Given the description of an element on the screen output the (x, y) to click on. 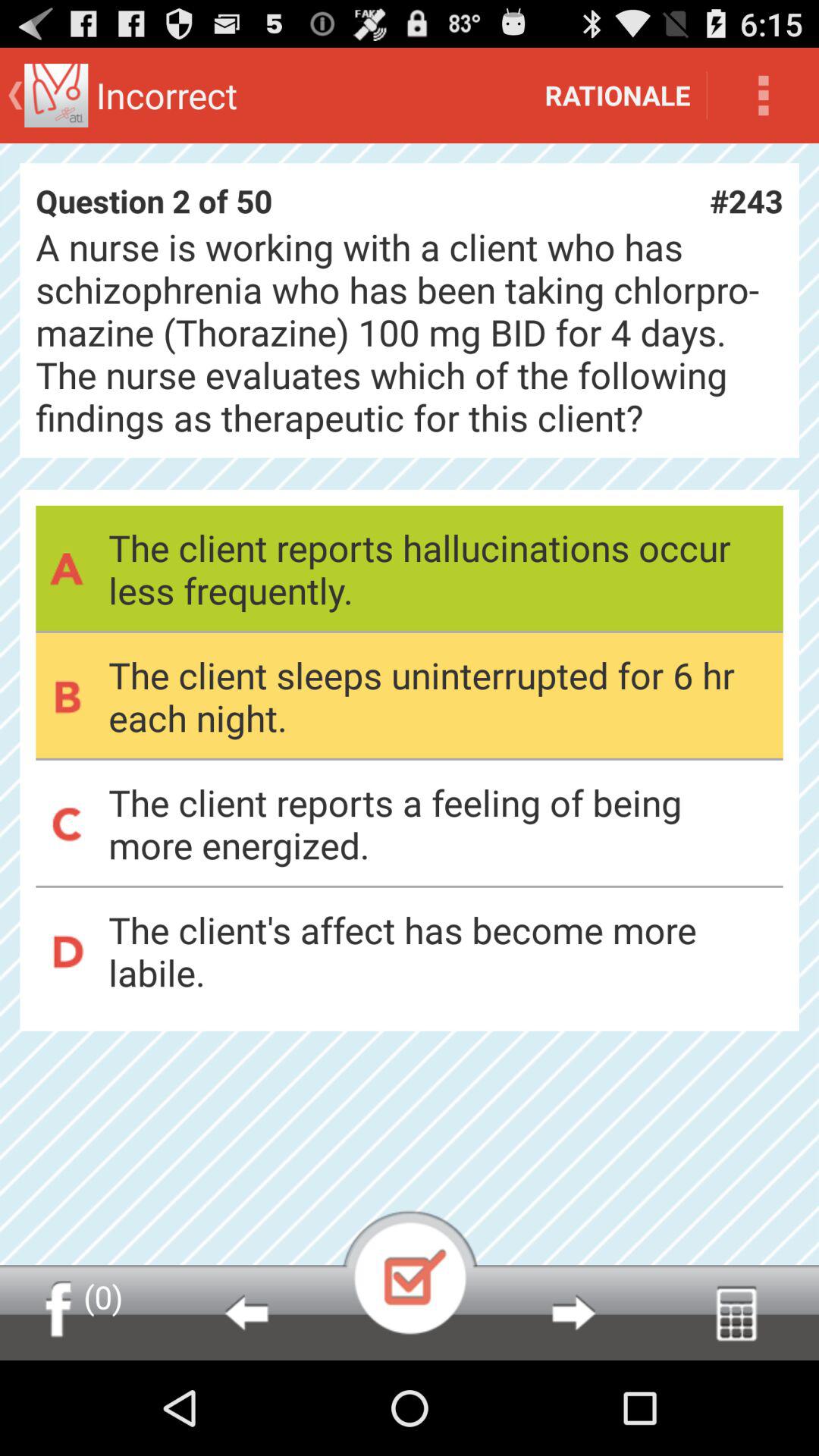
go to play (409, 1272)
